Given the description of an element on the screen output the (x, y) to click on. 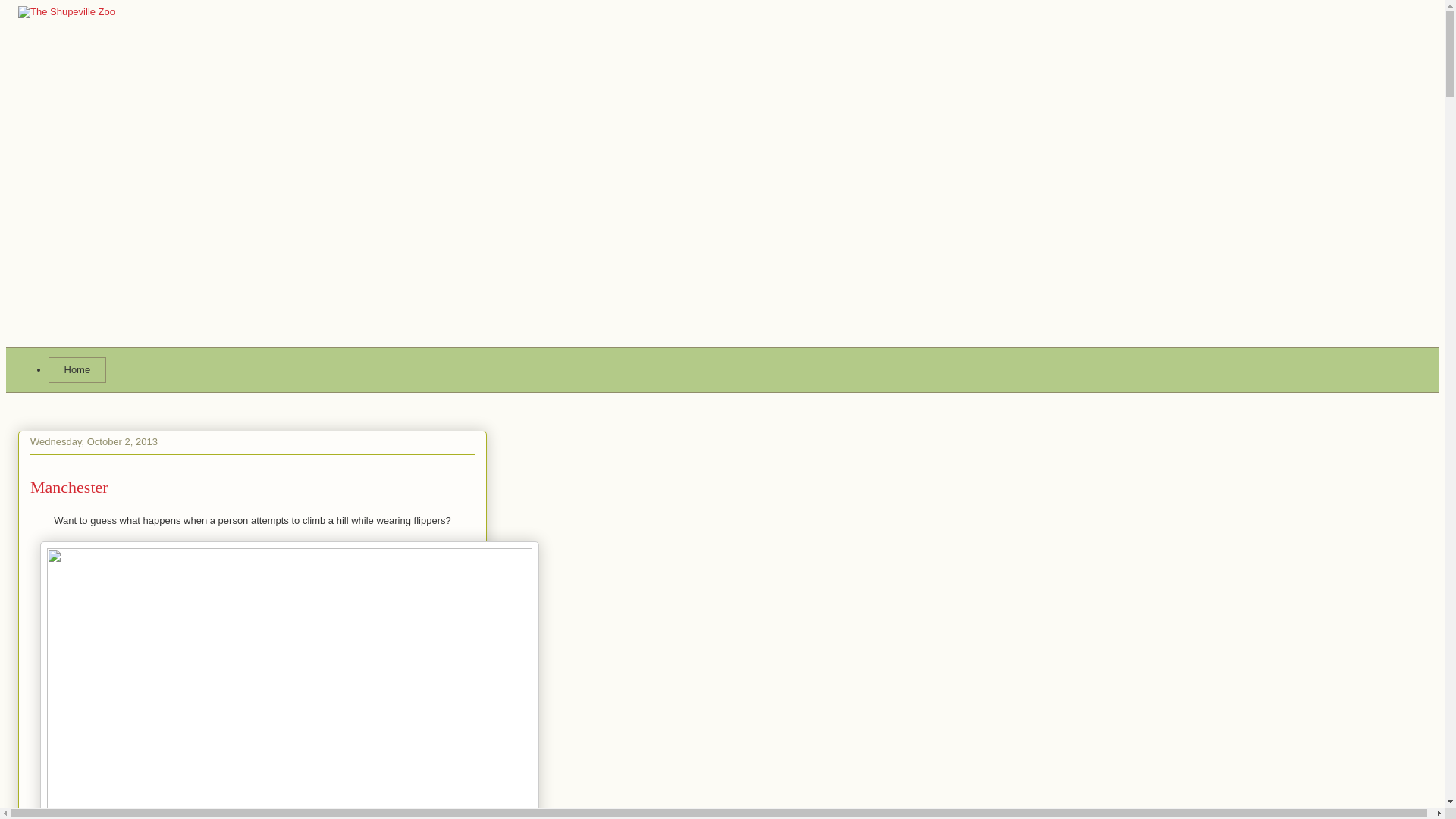
Home (77, 370)
